Given the description of an element on the screen output the (x, y) to click on. 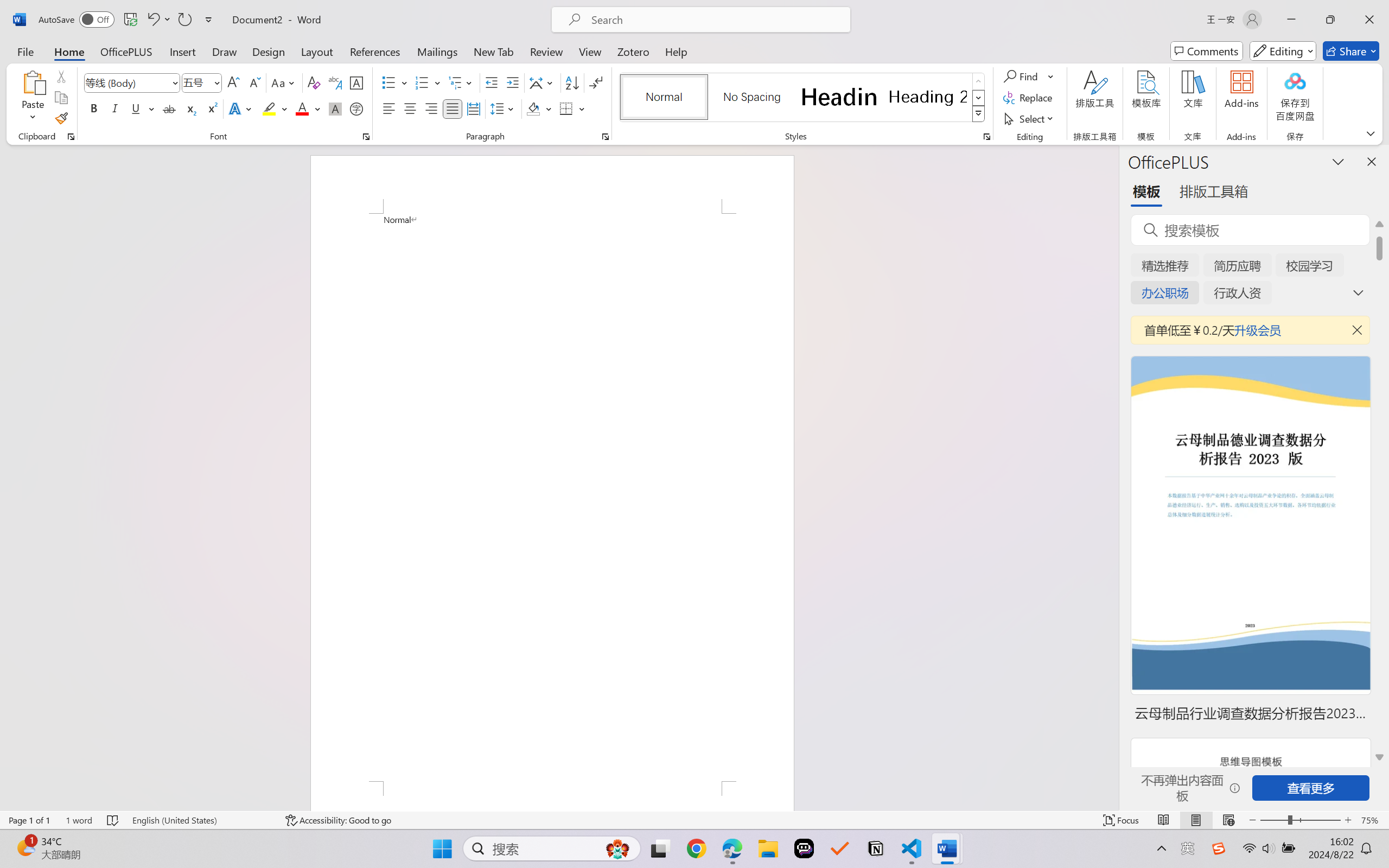
Text Effects and Typography (241, 108)
New Tab (493, 51)
Open (215, 82)
Shading (539, 108)
Font Color Red (302, 108)
Accessibility Checker Accessibility: Good to go (338, 819)
Show/Hide Editing Marks (595, 82)
Text Highlight Color (274, 108)
Font... (365, 136)
